Given the description of an element on the screen output the (x, y) to click on. 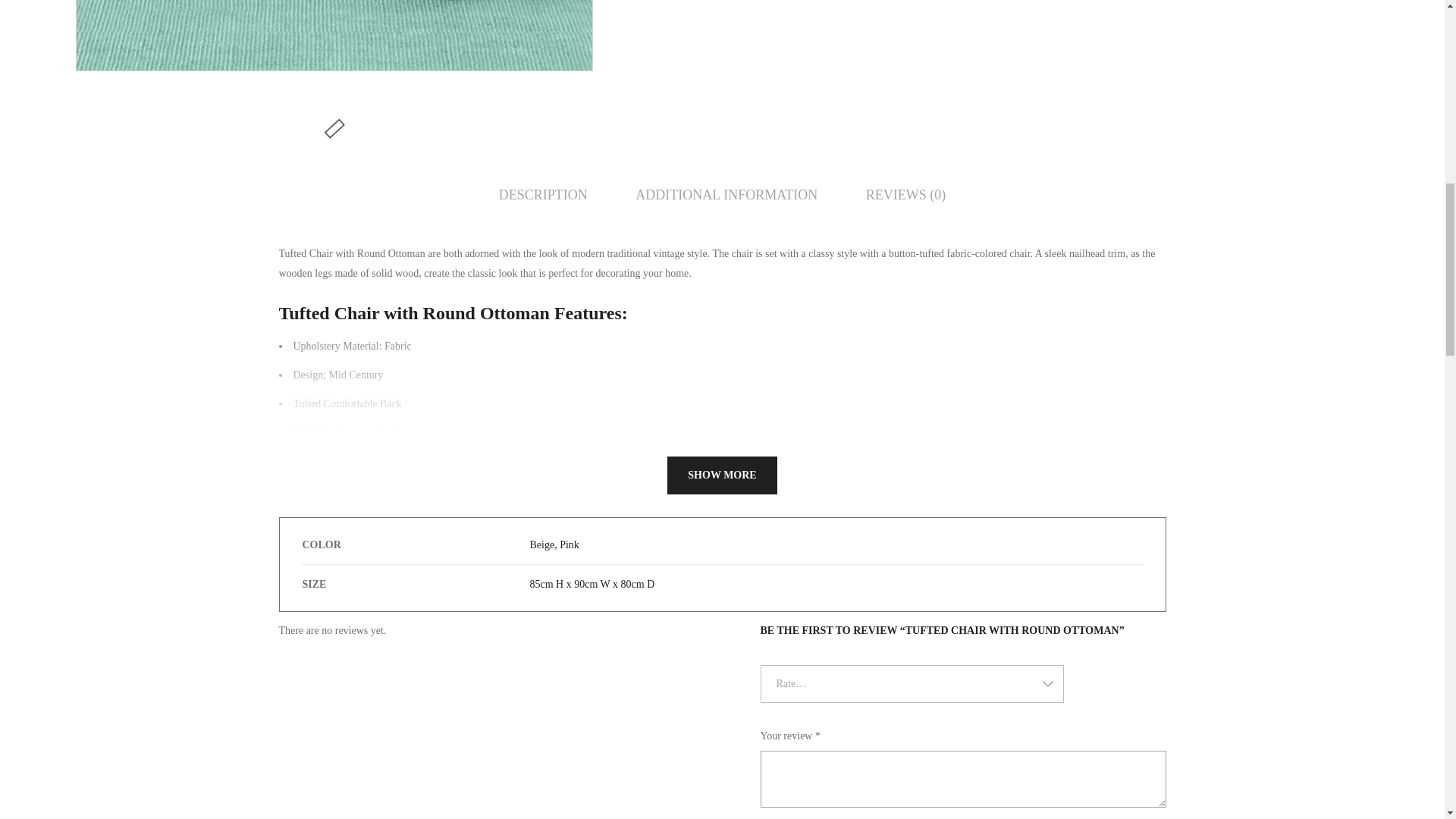
Tufted Chair with Round Ottoman (334, 35)
